Given the description of an element on the screen output the (x, y) to click on. 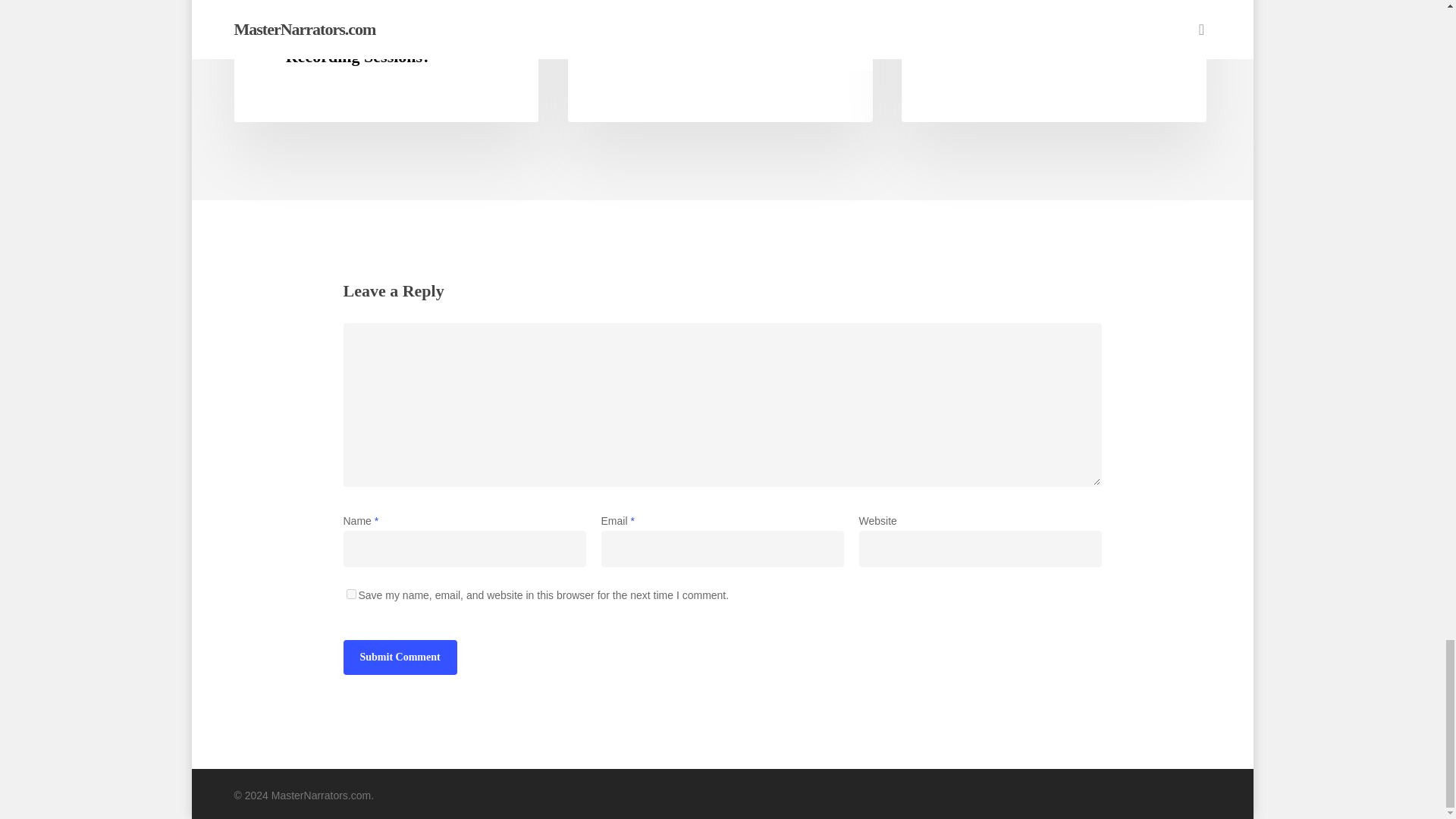
Submit Comment (399, 656)
Submit Comment (399, 656)
yes (350, 593)
